Given the description of an element on the screen output the (x, y) to click on. 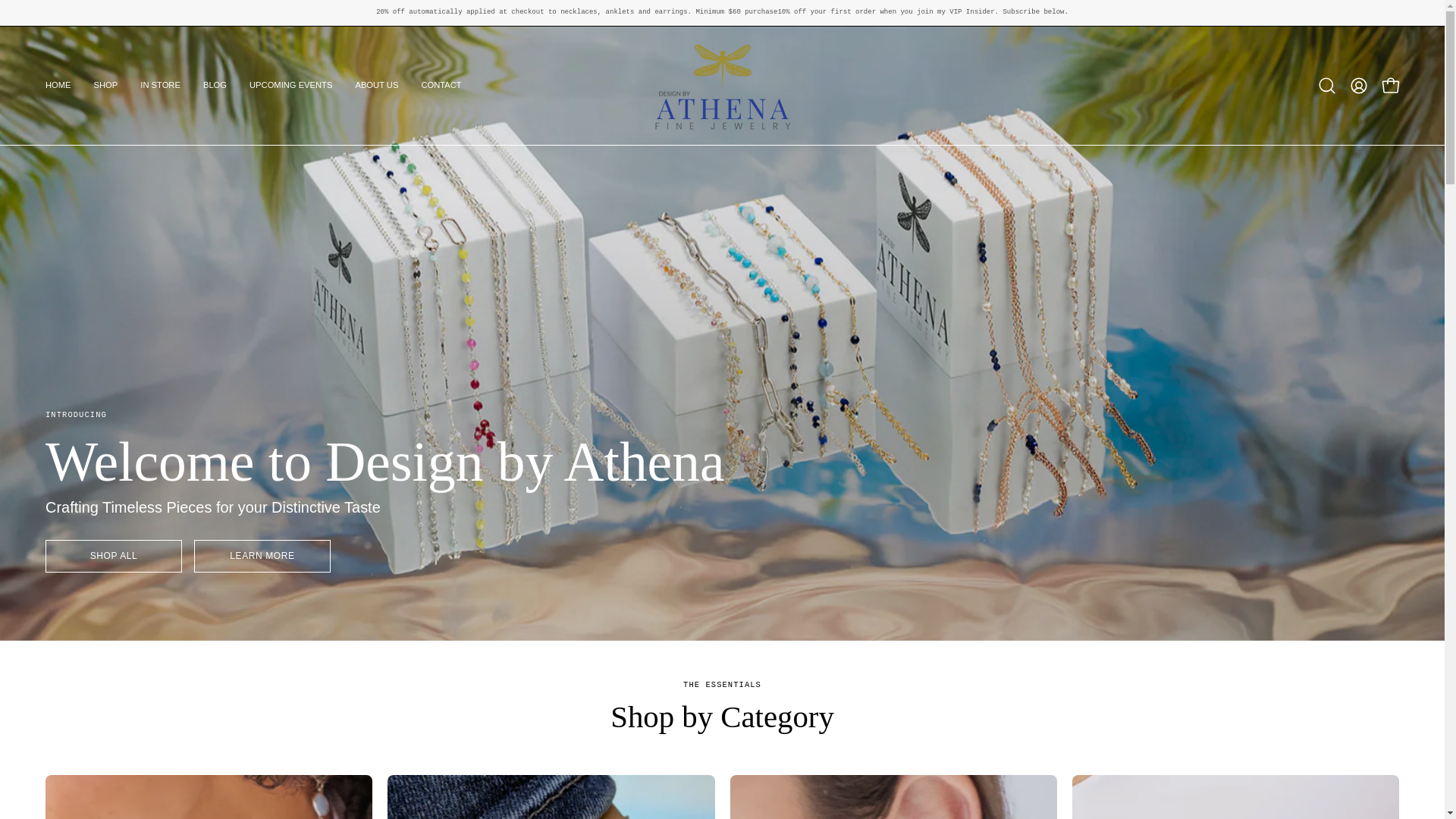
Open search bar (1326, 85)
UPCOMING EVENTS (290, 84)
